Given the description of an element on the screen output the (x, y) to click on. 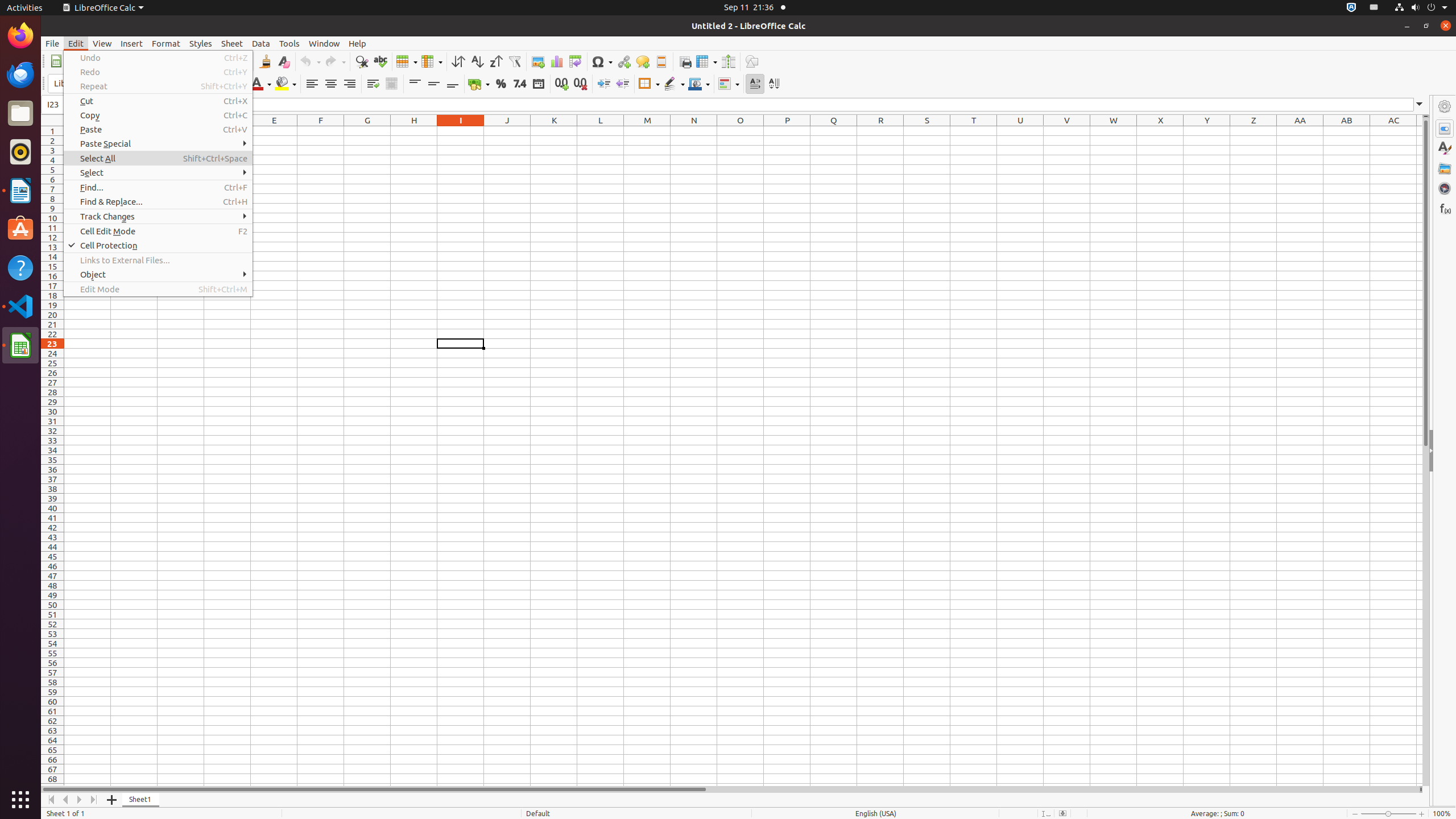
Activities Element type: label (24, 7)
Border Color Element type: push-button (698, 83)
Split Window Element type: push-button (727, 61)
Move Left Element type: push-button (65, 799)
Hyperlink Element type: toggle-button (623, 61)
